Given the description of an element on the screen output the (x, y) to click on. 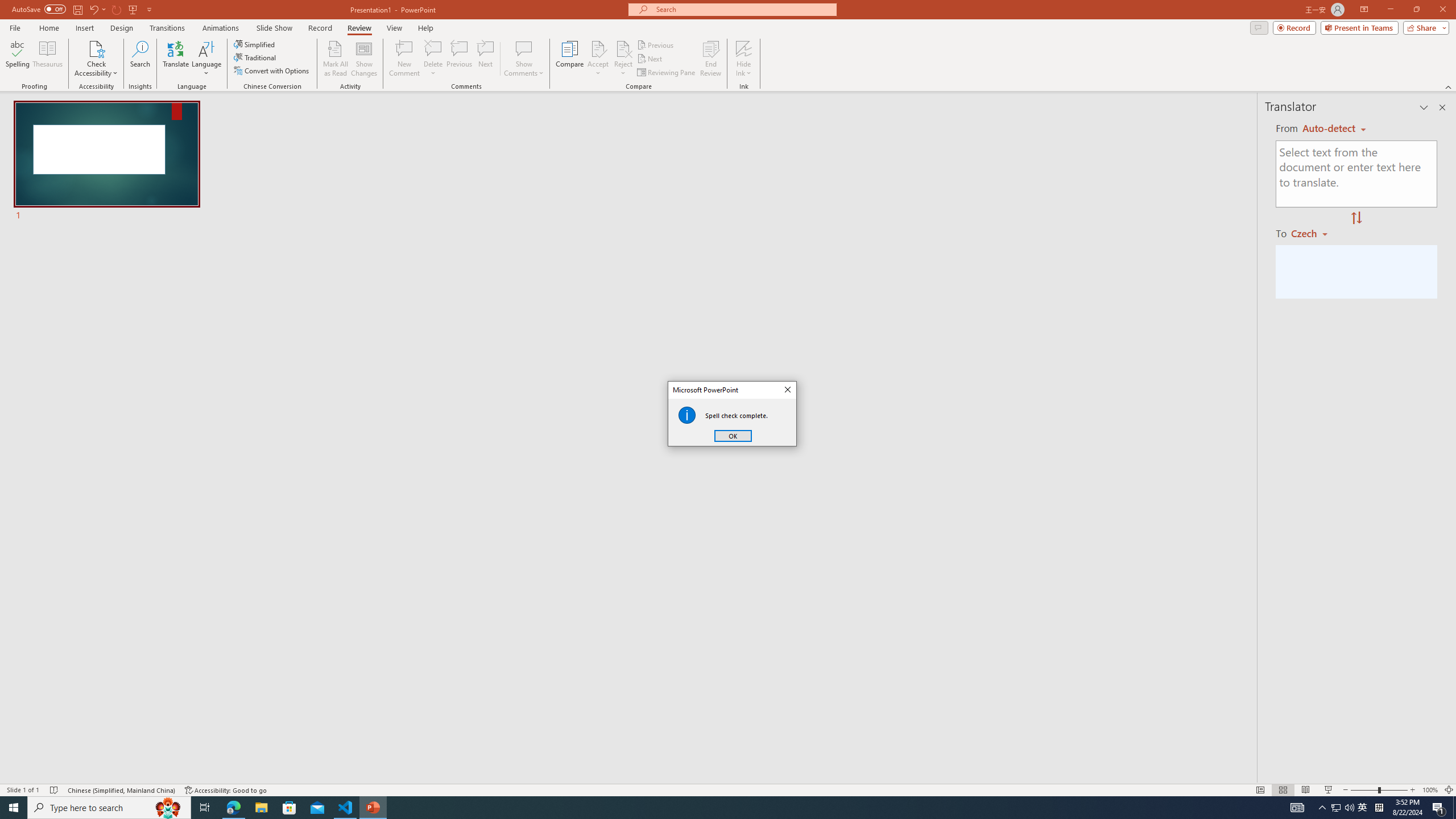
Czech (1313, 232)
Language (206, 58)
Show Changes (363, 58)
